Given the description of an element on the screen output the (x, y) to click on. 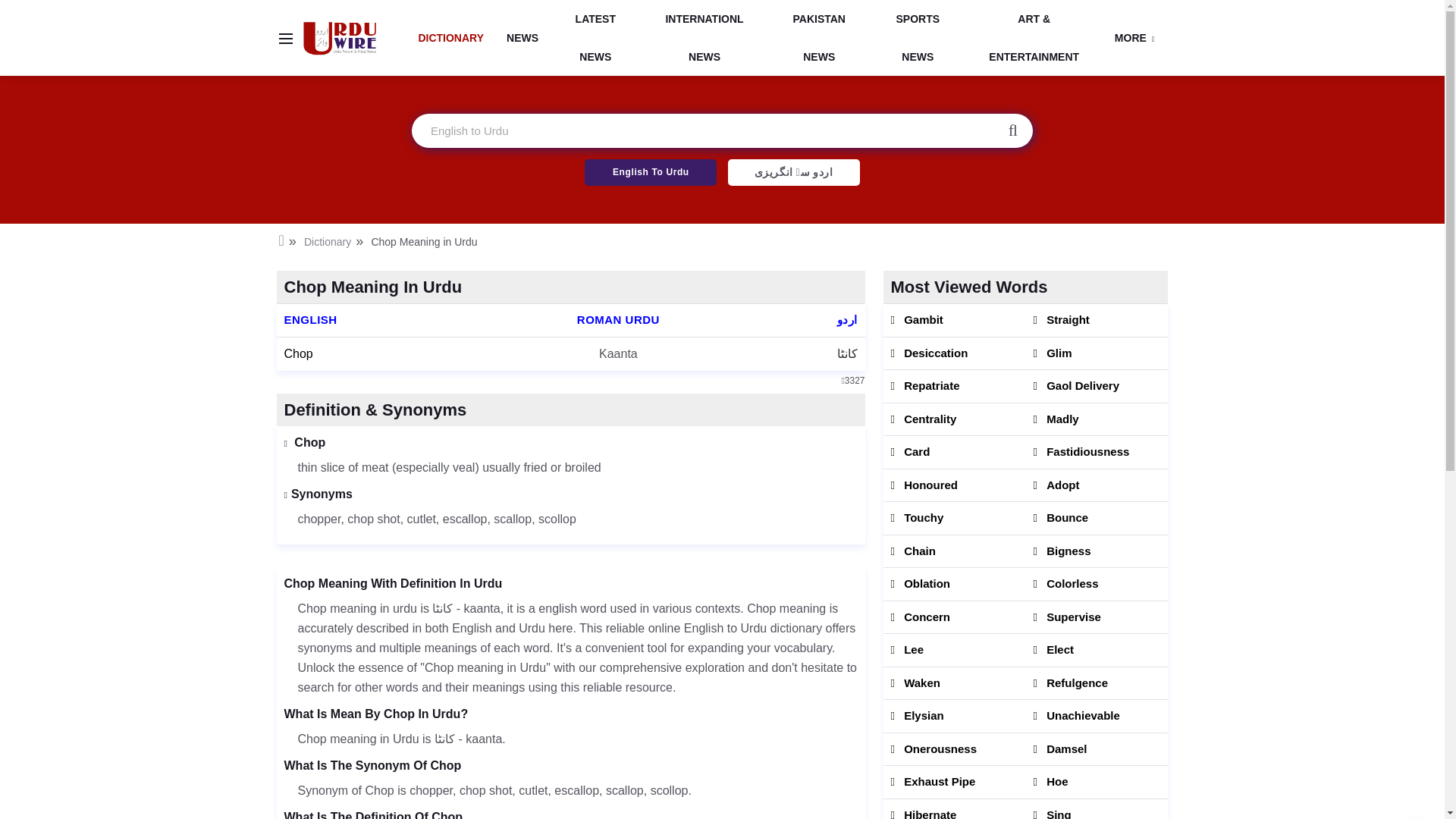
LATEST NEWS (596, 38)
Chop (298, 353)
SPORTS NEWS (917, 38)
English To Urdu (650, 171)
PAKISTAN NEWS (818, 38)
NEWS (522, 37)
DICTIONARY (450, 37)
MORE (1134, 37)
INTERNATIONL NEWS (705, 38)
Dictionary (327, 241)
